Given the description of an element on the screen output the (x, y) to click on. 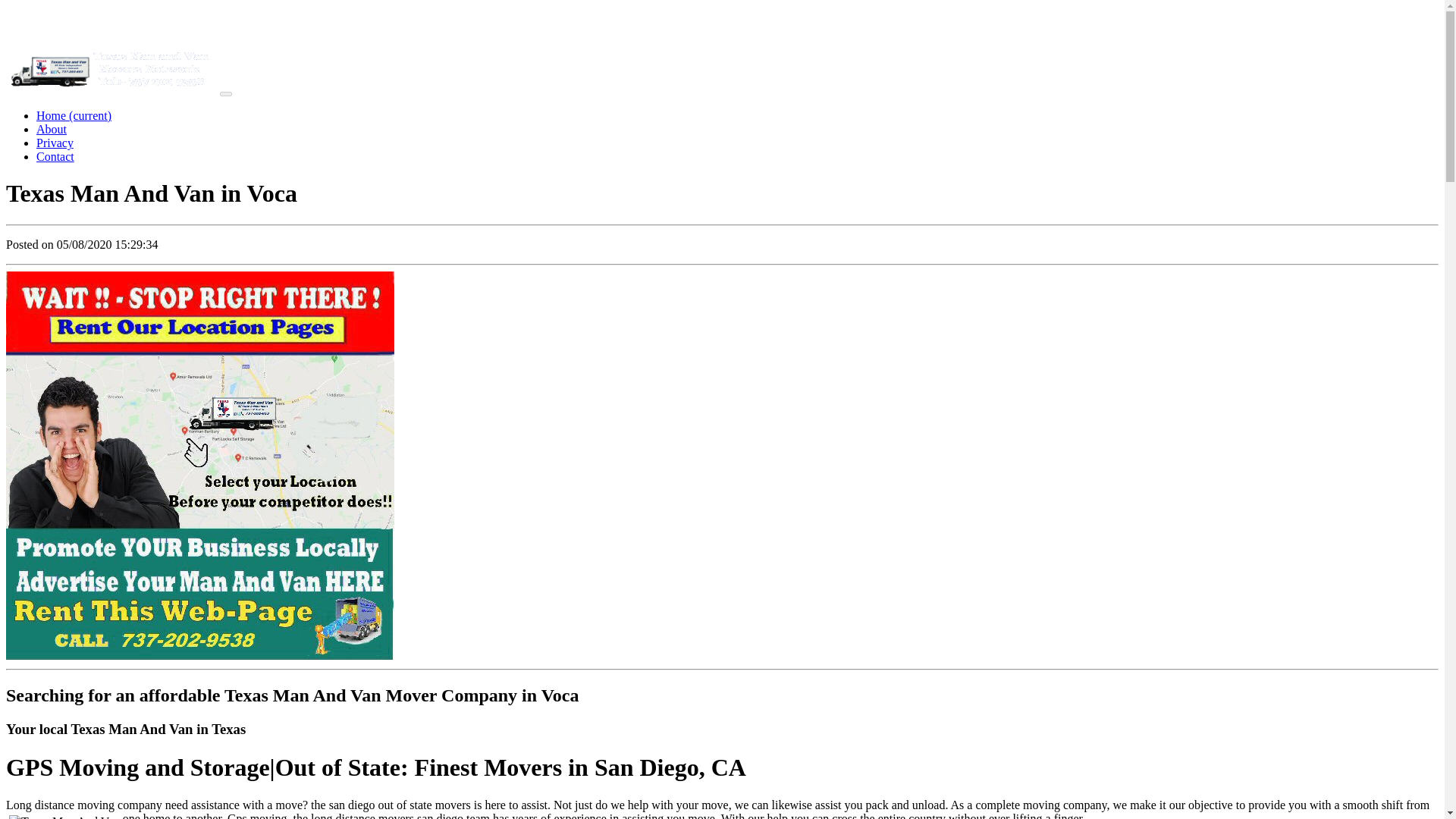
Privacy (55, 142)
Contact (55, 155)
About (51, 128)
